Given the description of an element on the screen output the (x, y) to click on. 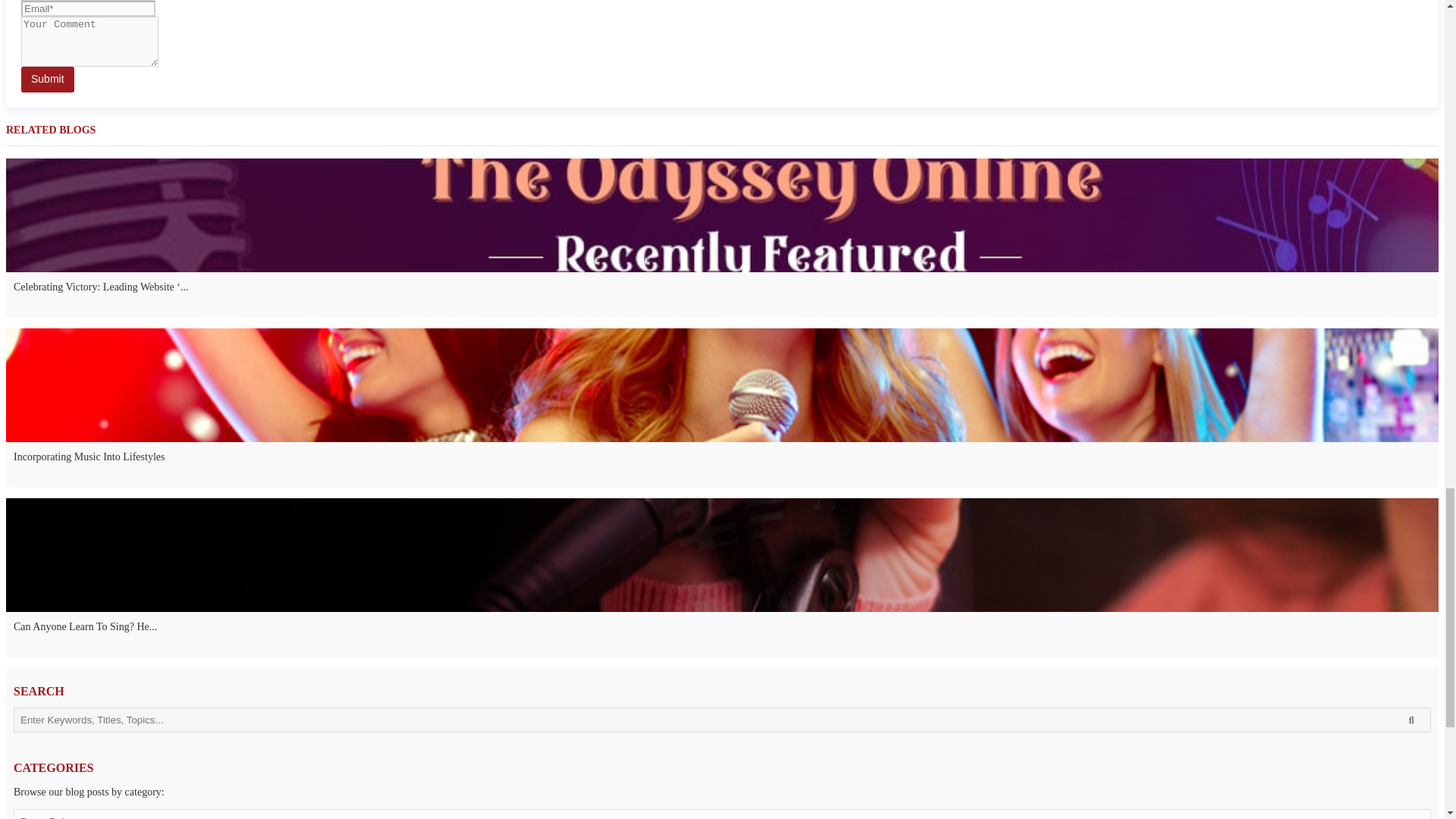
Incorporating Music Into Lifestyles (722, 464)
Submit (47, 79)
